Given the description of an element on the screen output the (x, y) to click on. 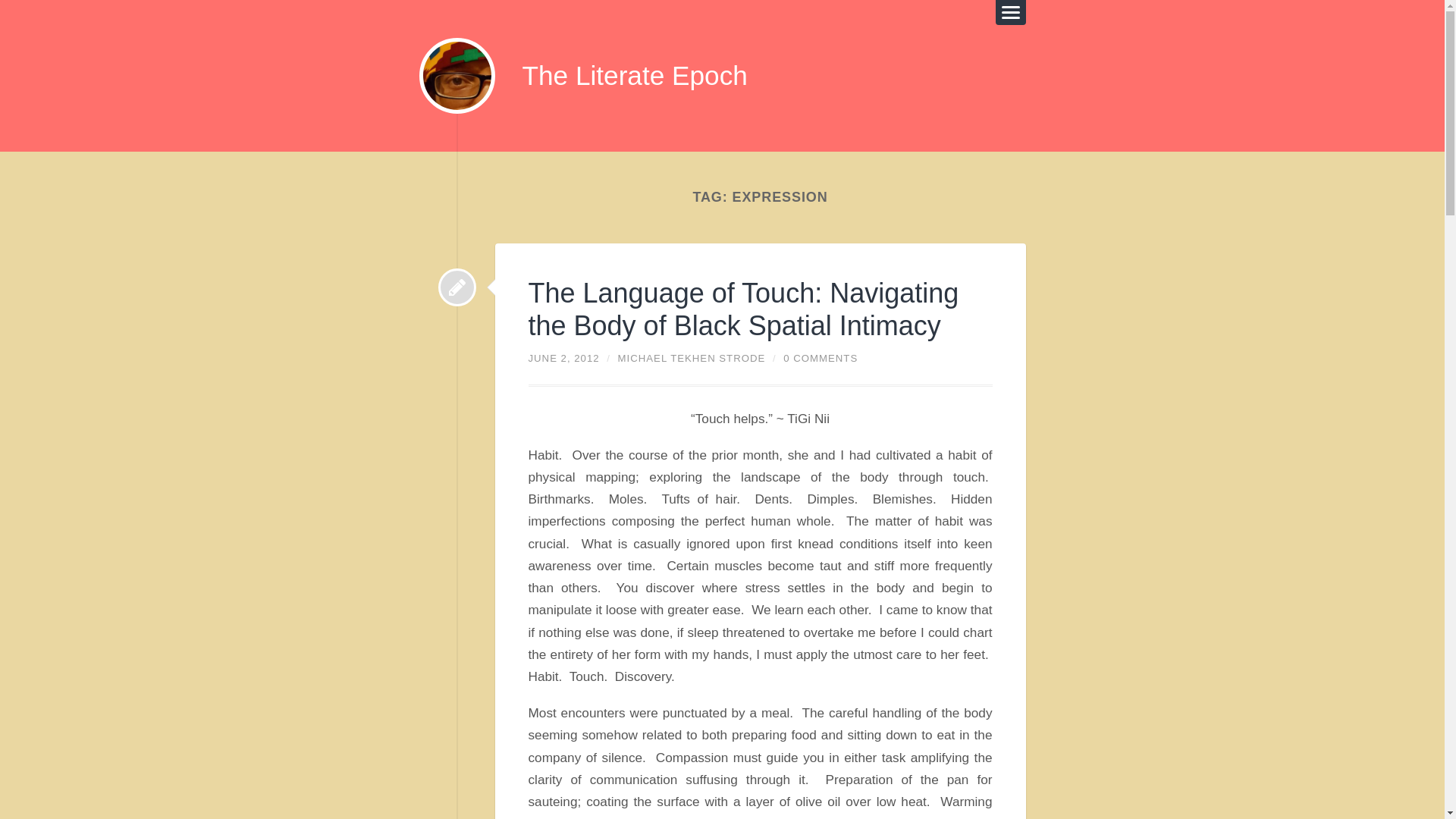
MICHAEL TEKHEN STRODE (691, 357)
JUNE 2, 2012 (562, 357)
0 COMMENTS (820, 357)
Posts by Michael Tekhen Strode (691, 357)
The Literate Epoch (633, 75)
